Given the description of an element on the screen output the (x, y) to click on. 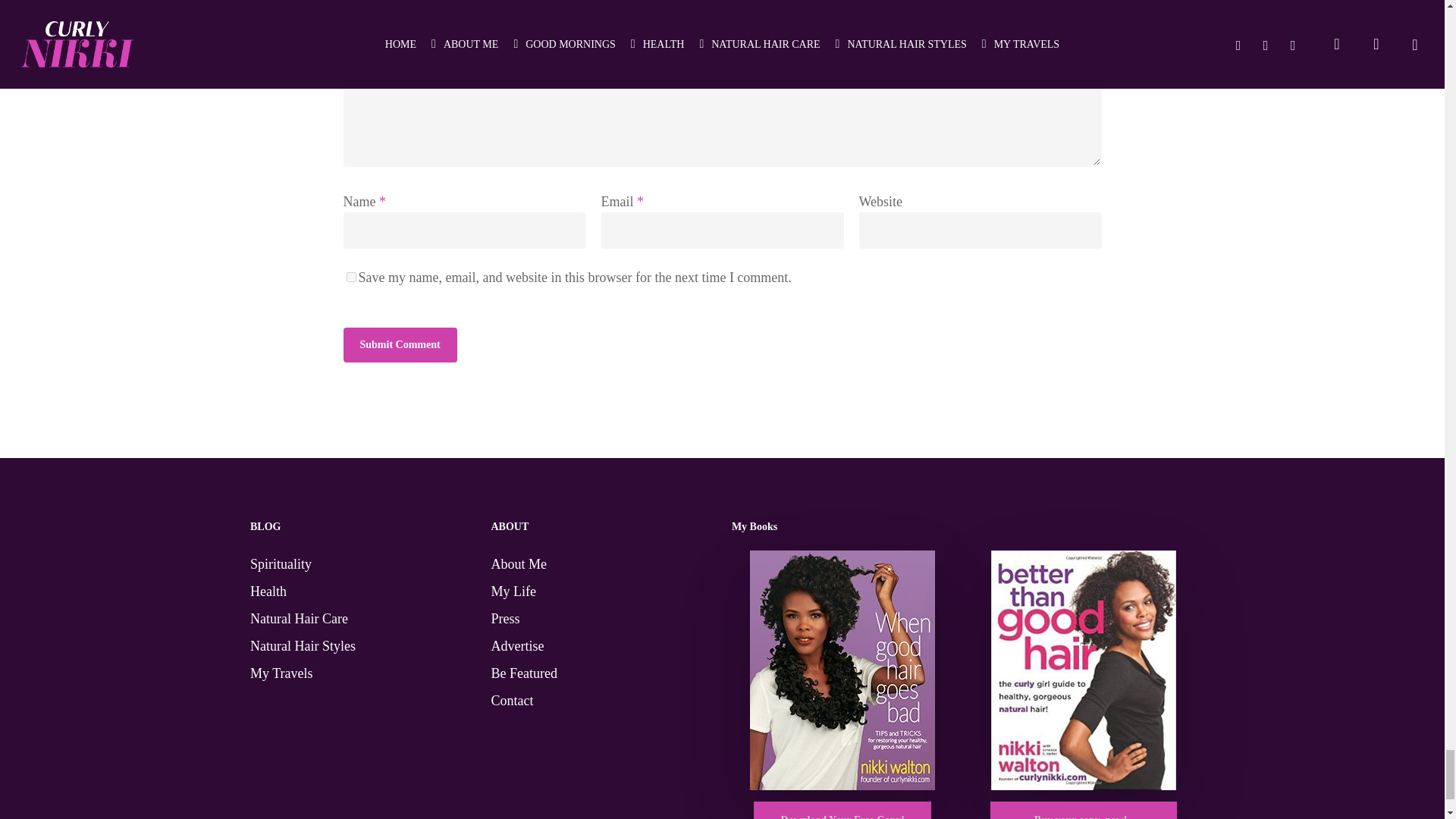
Submit Comment (399, 344)
yes (350, 276)
